Given the description of an element on the screen output the (x, y) to click on. 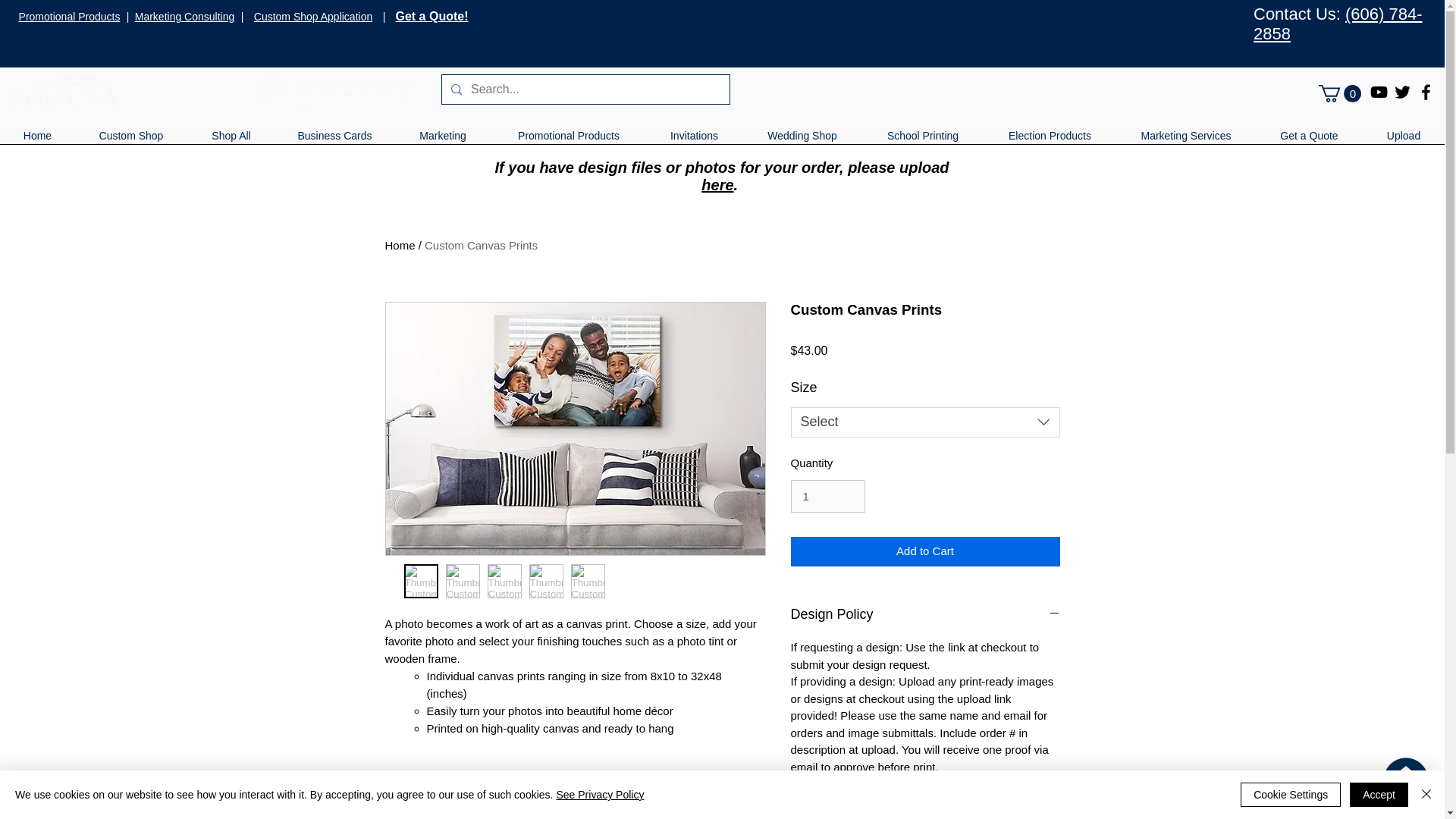
here (717, 184)
Custom Canvas Prints (481, 245)
Promotional Products (569, 140)
Design Policy (924, 614)
Custom Shop Application (312, 16)
0 (1340, 93)
Shop All (231, 140)
0 (1340, 93)
Marketing Consulting (184, 16)
Select (924, 422)
Home (37, 140)
Get a Quote! (430, 15)
1 (827, 496)
Wedding Shop (801, 140)
Promotional Products (69, 16)
